Given the description of an element on the screen output the (x, y) to click on. 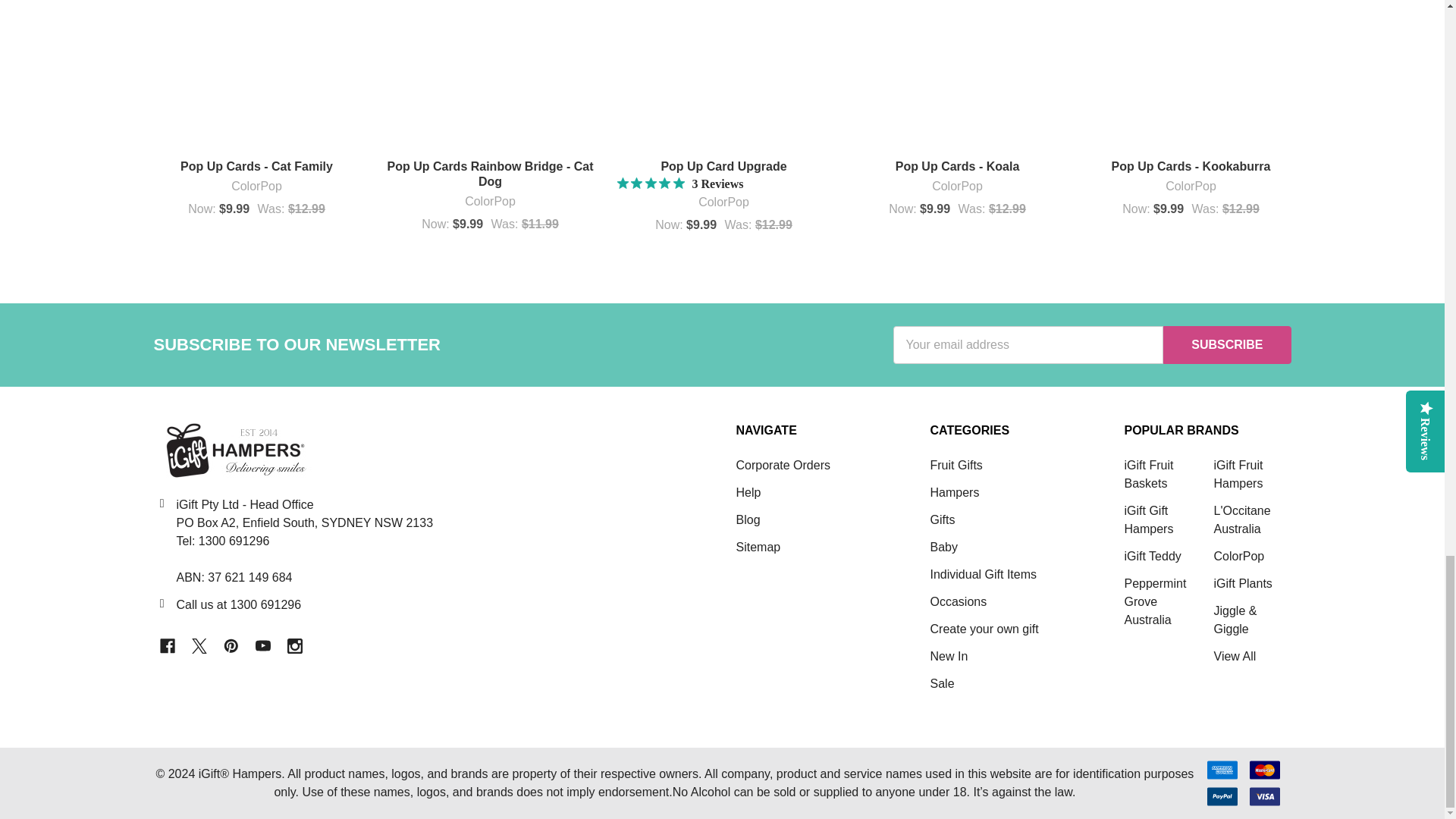
Subscribe (1226, 344)
3 Reviews (680, 183)
